Given the description of an element on the screen output the (x, y) to click on. 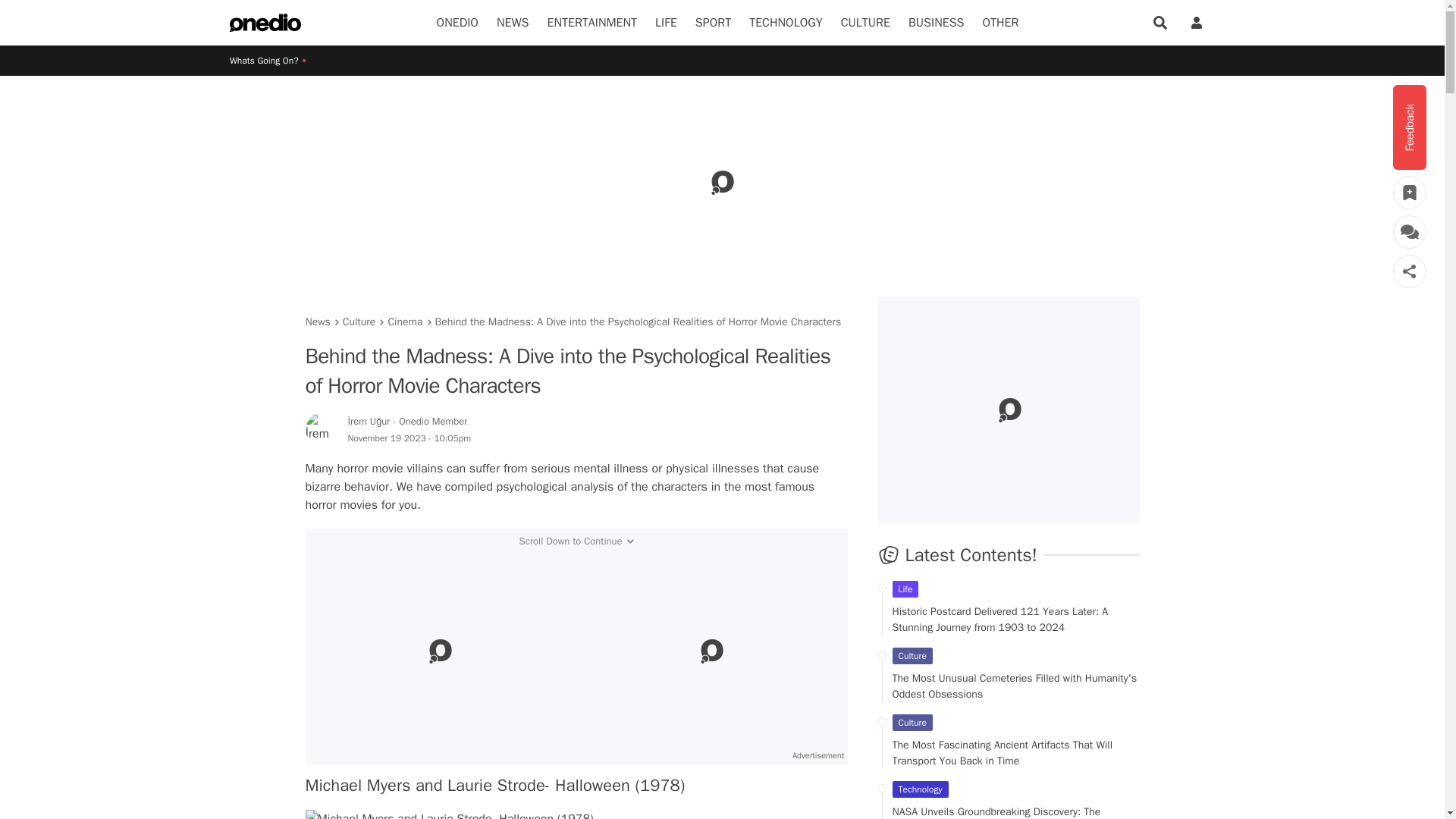
ONEDIO (457, 22)
SPORT (712, 22)
Entertainment (591, 22)
Onedio (457, 22)
ENTERTAINMENT (591, 22)
News (512, 22)
Ana Sayfa (265, 22)
NEWS (512, 22)
